Given the description of an element on the screen output the (x, y) to click on. 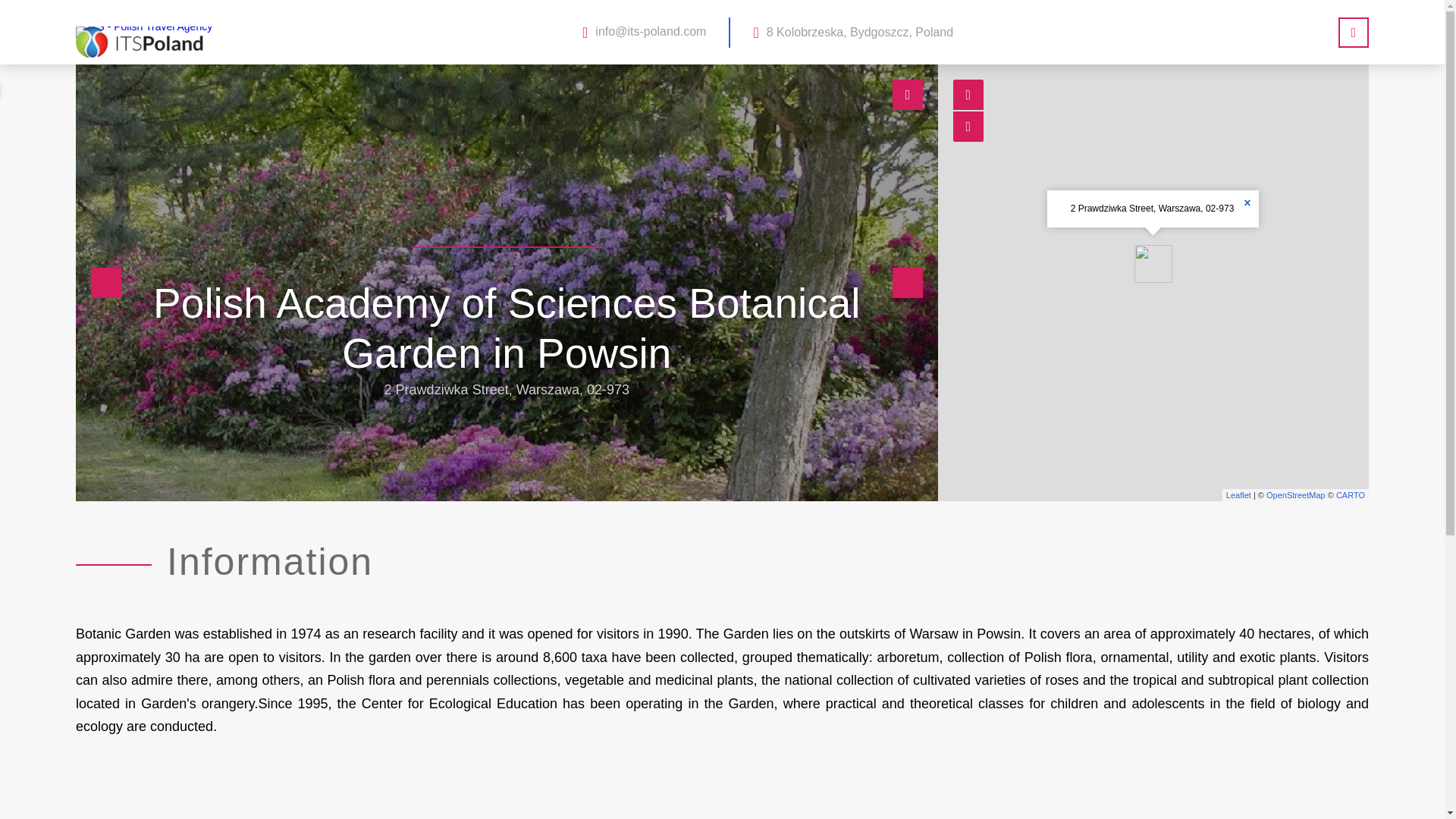
Zoom out (968, 126)
Previous (105, 282)
A JS library for interactive maps (1237, 494)
Zoom in (968, 94)
